Given the description of an element on the screen output the (x, y) to click on. 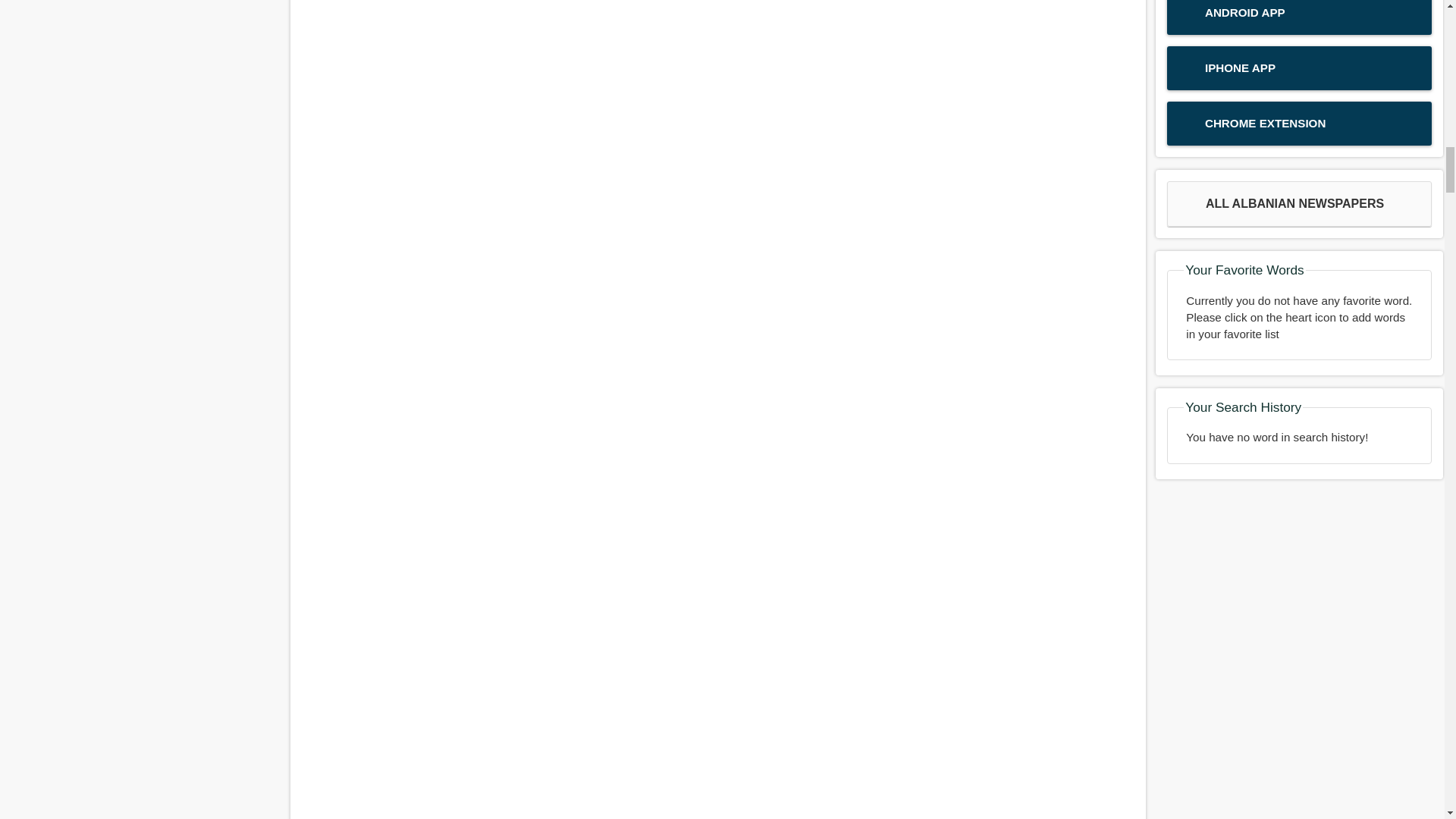
Learn Prepositions by Photos (717, 169)
